Given the description of an element on the screen output the (x, y) to click on. 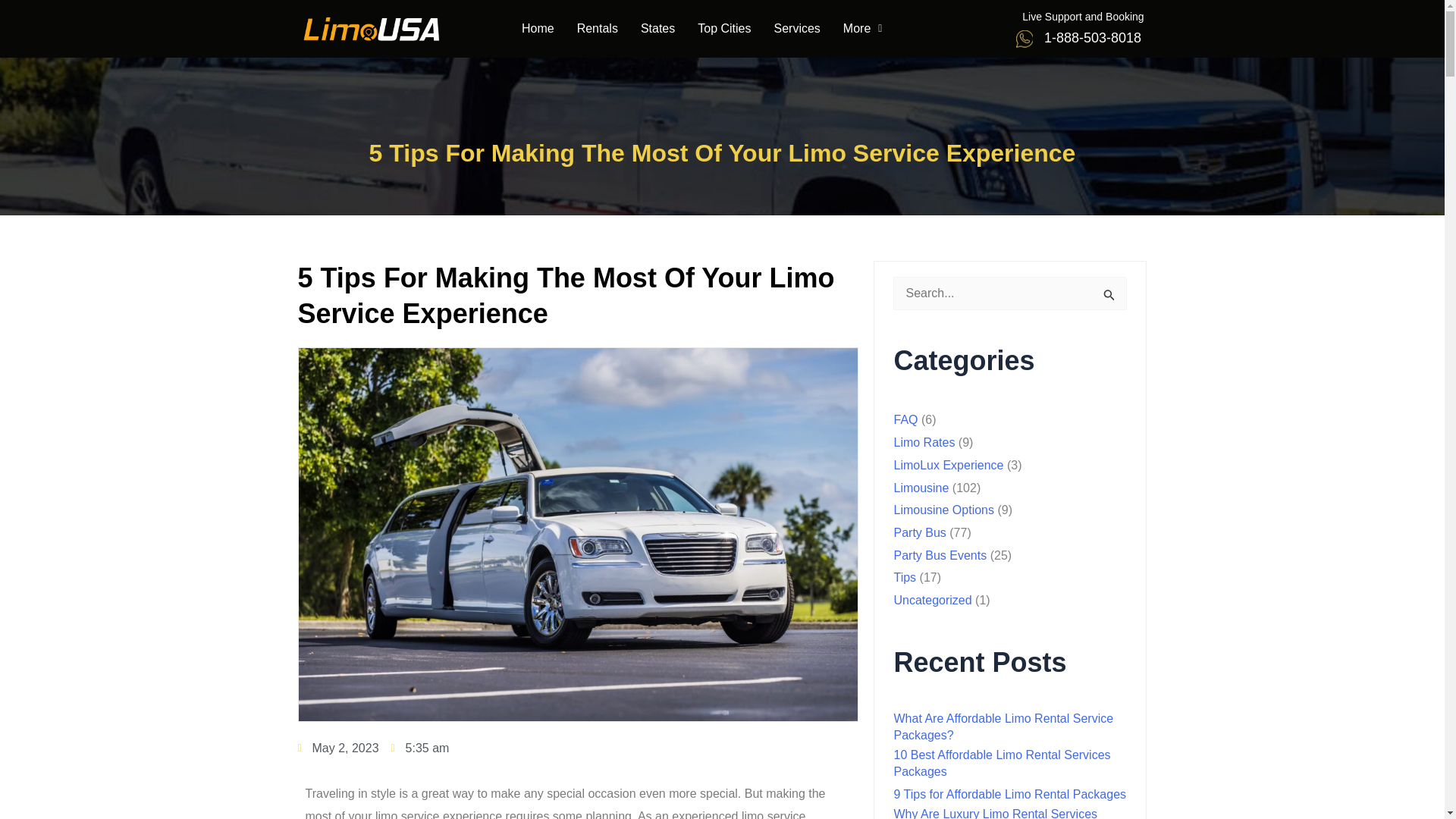
States (656, 28)
Home (538, 28)
Top Cities (723, 28)
1-888-503-8018 (1092, 37)
Services (796, 28)
More (862, 28)
May 2, 2023 (337, 748)
Rentals (597, 28)
